Given the description of an element on the screen output the (x, y) to click on. 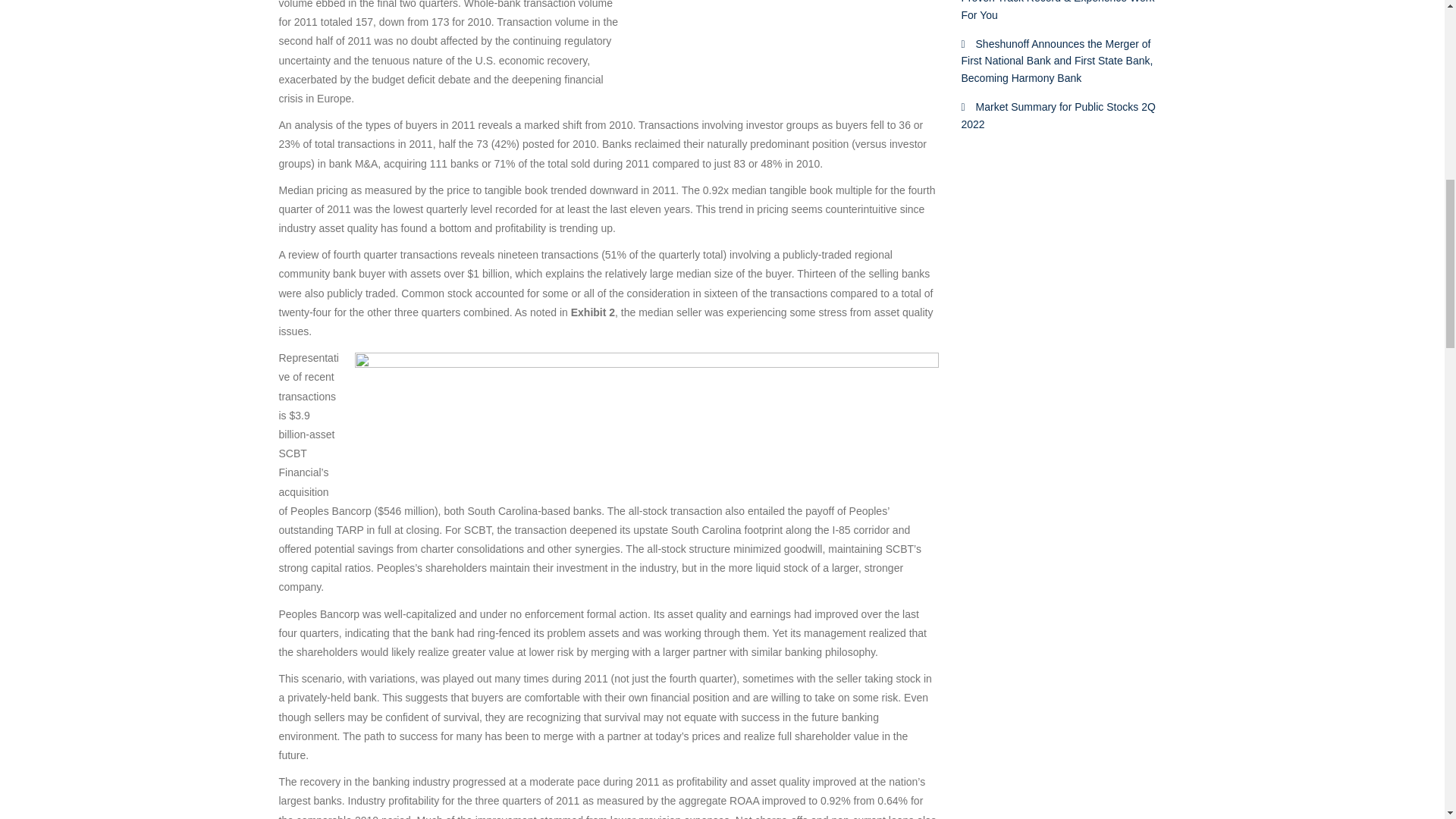
Exhibit 1 (786, 30)
Exhibit 2 (647, 411)
